Given the description of an element on the screen output the (x, y) to click on. 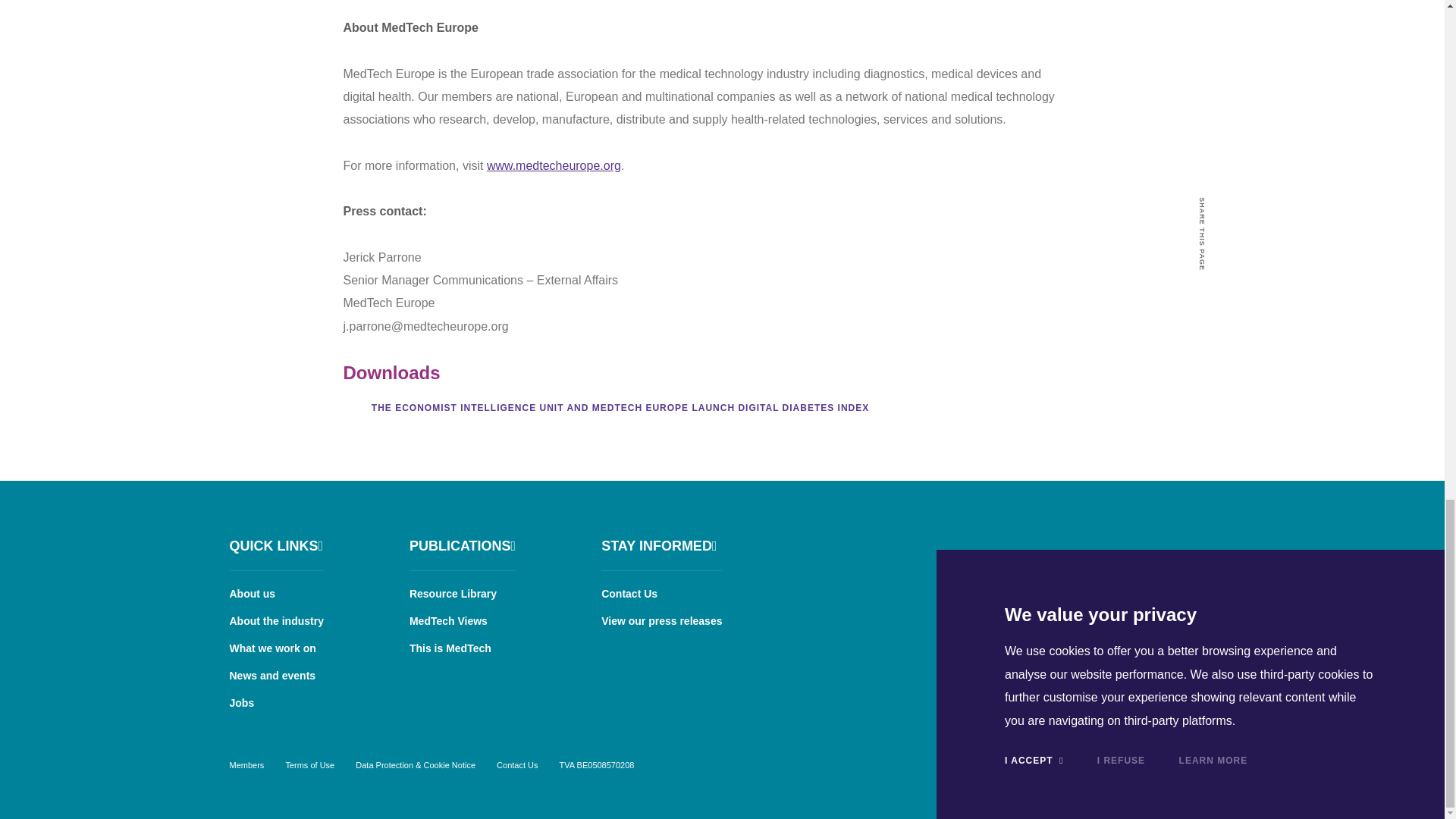
Share on Linkedin (1202, 296)
Share on Email (1202, 378)
Youtube (1197, 543)
Print (1202, 406)
Share on Twitter (1202, 324)
Facebook (1072, 543)
Share on Facebook (1202, 351)
Twitter (1155, 543)
Linkedin (1114, 543)
